Given the description of an element on the screen output the (x, y) to click on. 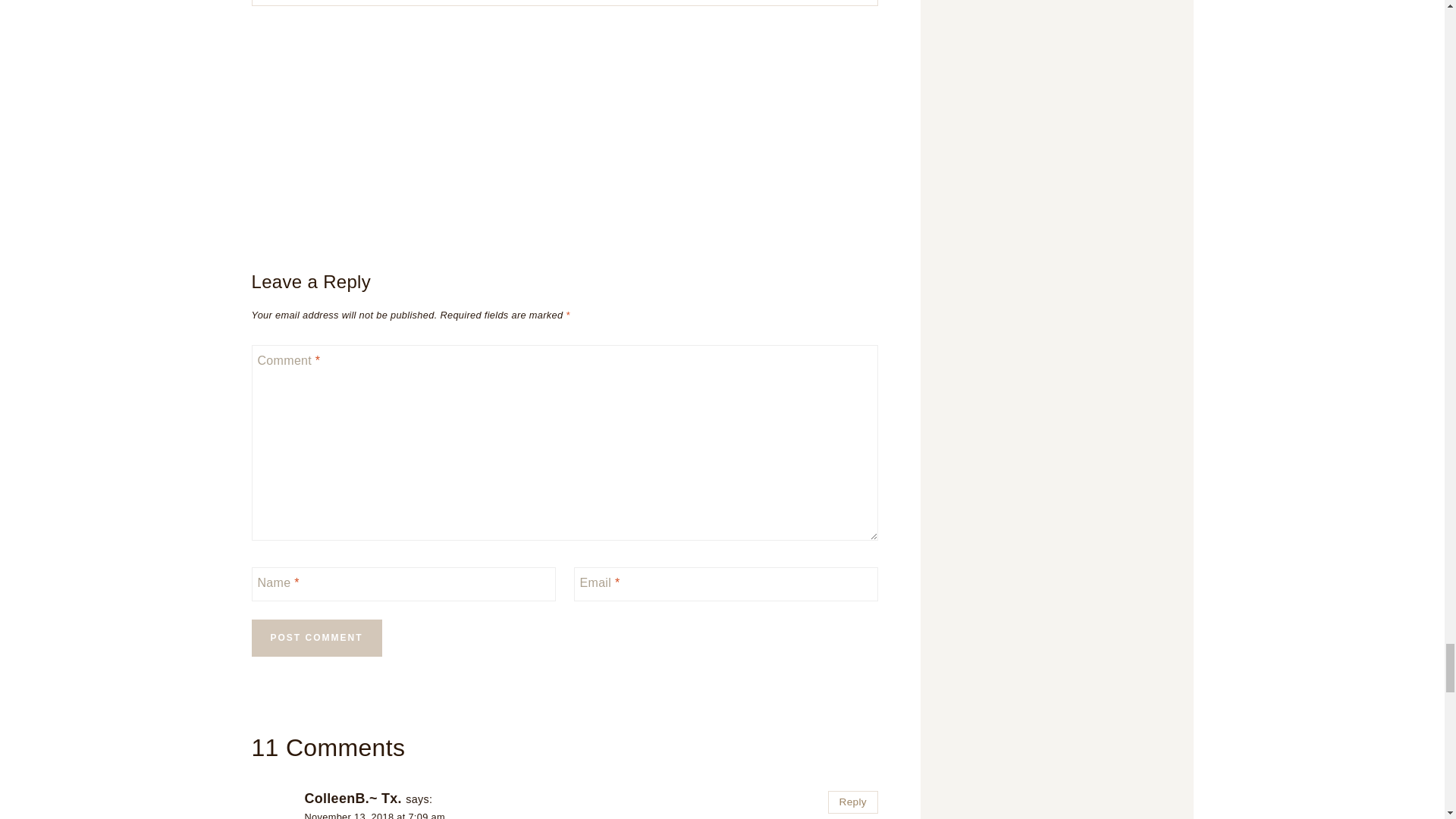
Post Comment (316, 637)
